Given the description of an element on the screen output the (x, y) to click on. 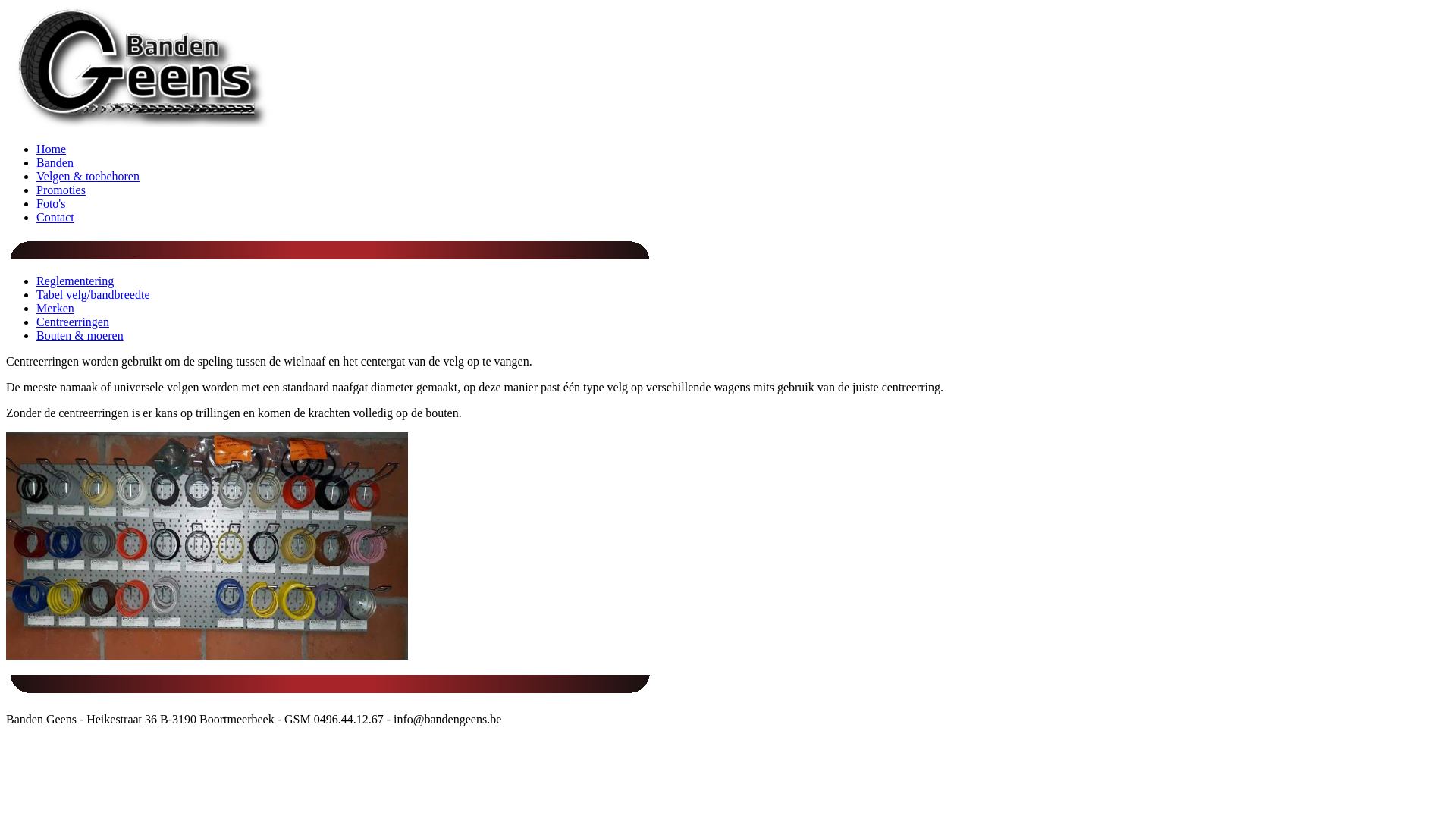
Bouten & moeren Element type: text (79, 335)
Promoties Element type: text (60, 189)
Centreerringen Element type: text (72, 321)
Merken Element type: text (55, 307)
Velgen & toebehoren Element type: text (87, 175)
Reglementering Element type: text (74, 280)
Banden Element type: text (54, 162)
Tabel velg/bandbreedte Element type: text (92, 294)
Home Element type: text (50, 148)
Contact Element type: text (55, 216)
Foto's Element type: text (50, 203)
